Given the description of an element on the screen output the (x, y) to click on. 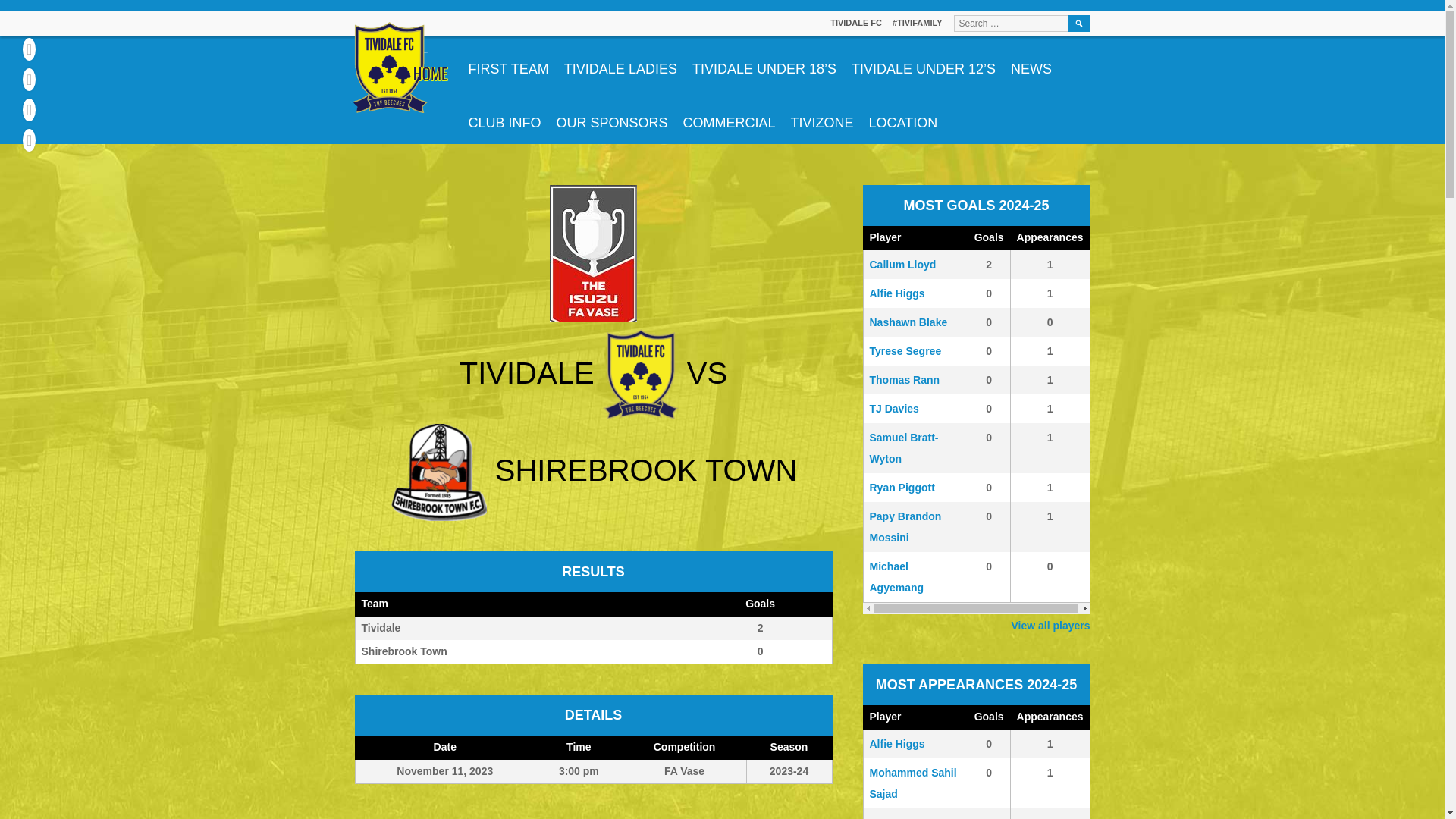
TIVIDALE FC (855, 22)
LOCATION (902, 117)
COMMERCIAL (729, 117)
NEWS (1031, 63)
Search (1078, 23)
CLUB INFO (504, 117)
TIVIDALE LADIES (620, 63)
